Given the description of an element on the screen output the (x, y) to click on. 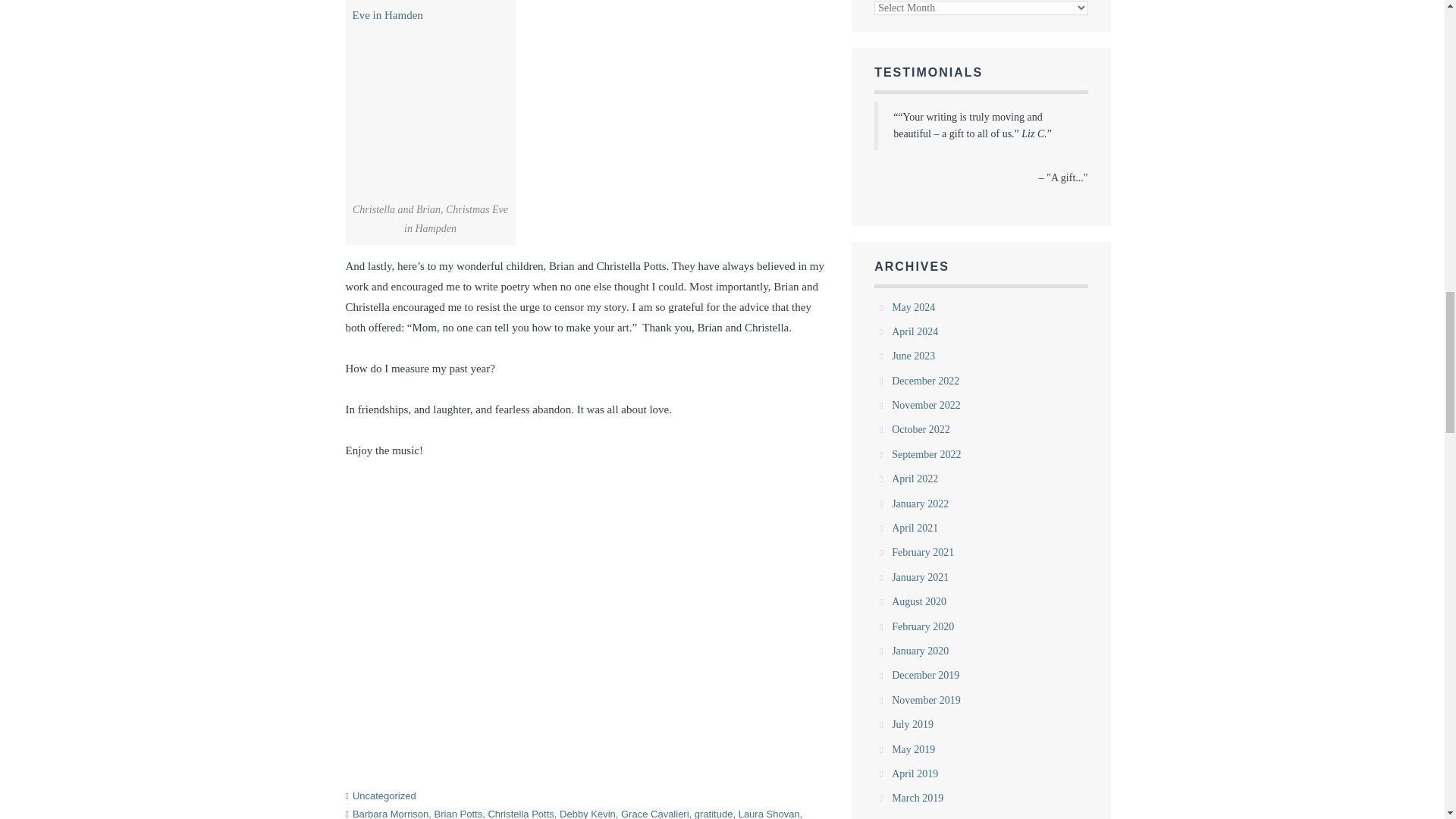
Brian Potts (458, 813)
Grace Cavalieri (654, 813)
Uncategorized (384, 795)
Barbara Morrison (390, 813)
Debby Kevin (587, 813)
Christella Potts (520, 813)
